Given the description of an element on the screen output the (x, y) to click on. 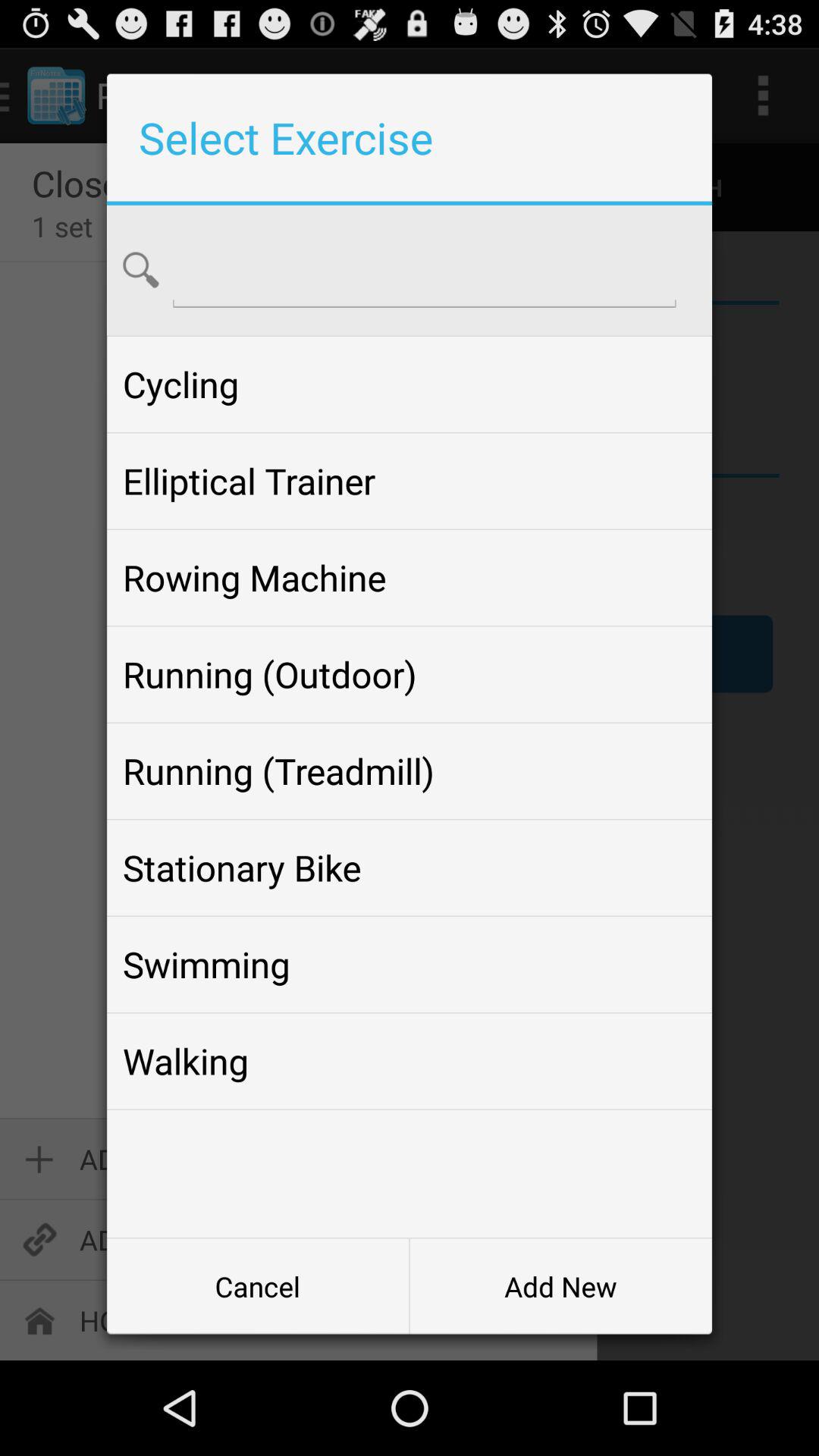
choose running (treadmill) app (409, 771)
